Given the description of an element on the screen output the (x, y) to click on. 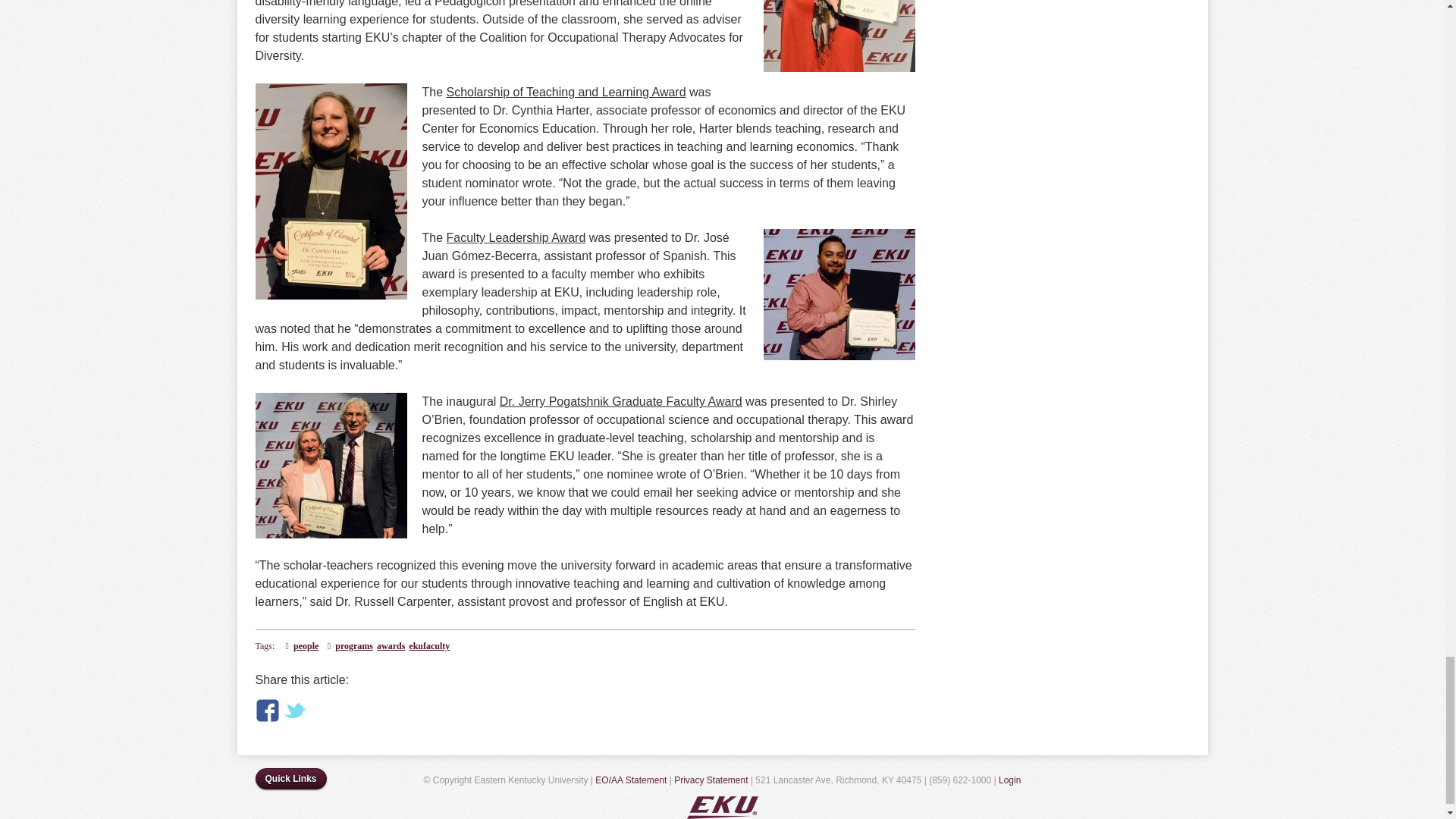
ekufaculty (429, 645)
Share this story on Twitter (294, 710)
people (306, 645)
awards (390, 645)
Share this story on Facebook (266, 710)
Facebook (266, 710)
Twitter (294, 710)
programs (353, 645)
